Given the description of an element on the screen output the (x, y) to click on. 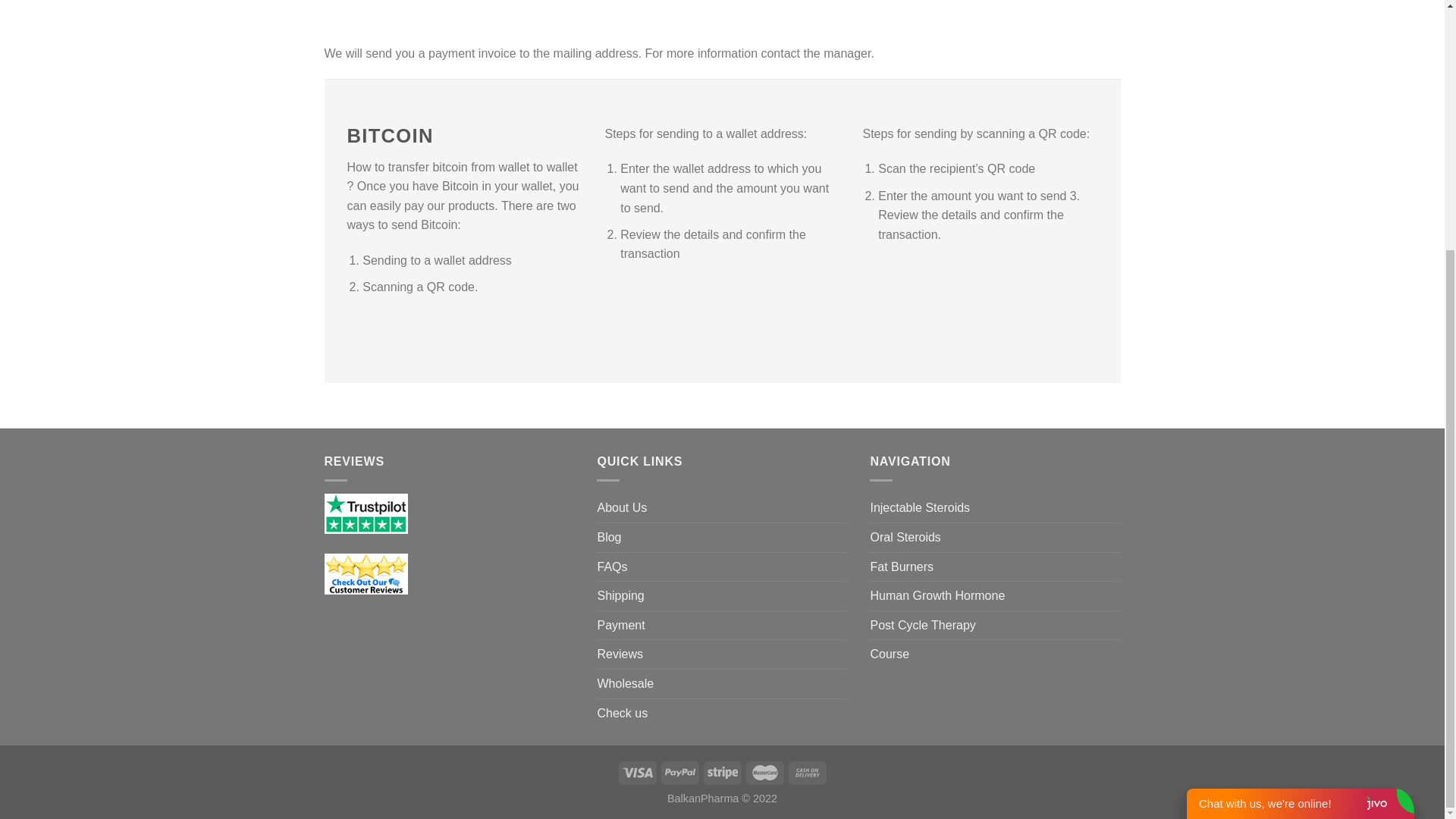
Course (888, 654)
Human Growth Hormone (936, 595)
Check us (621, 713)
Oral Steroids (904, 537)
Post Cycle Therapy (922, 624)
Shipping (619, 595)
Payment (620, 624)
Fat Burners (901, 566)
Wholesale (624, 683)
Injectable Steroids (919, 507)
About Us (621, 507)
Reviews (619, 654)
FAQs (611, 566)
